Given the description of an element on the screen output the (x, y) to click on. 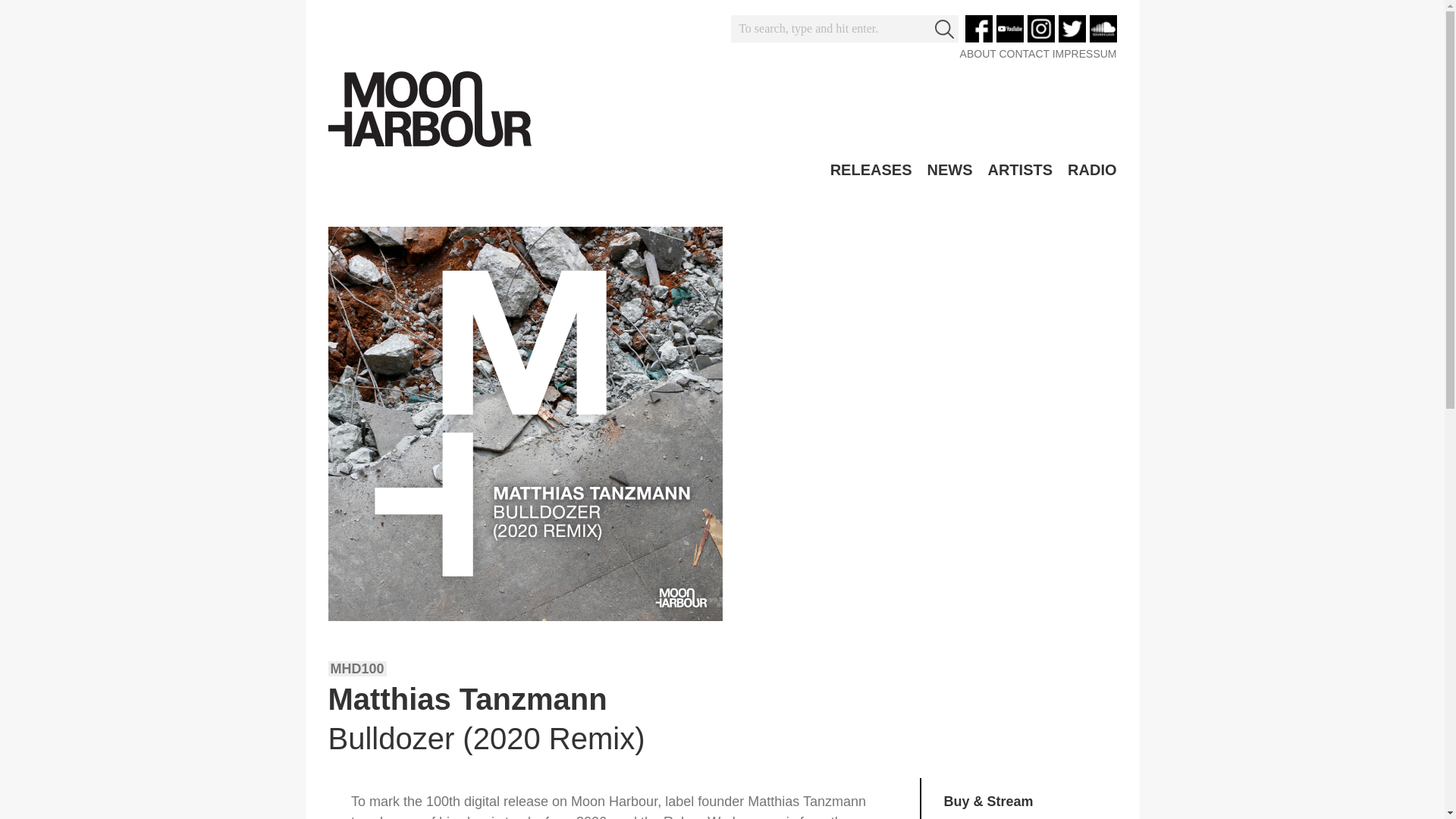
ARTISTS (1019, 169)
ABOUT (977, 53)
IMPRESSUM (1084, 53)
NEWS (949, 169)
Submit your search query. (944, 28)
RELEASES (870, 169)
RADIO (1091, 169)
CONTACT (1023, 53)
